Given the description of an element on the screen output the (x, y) to click on. 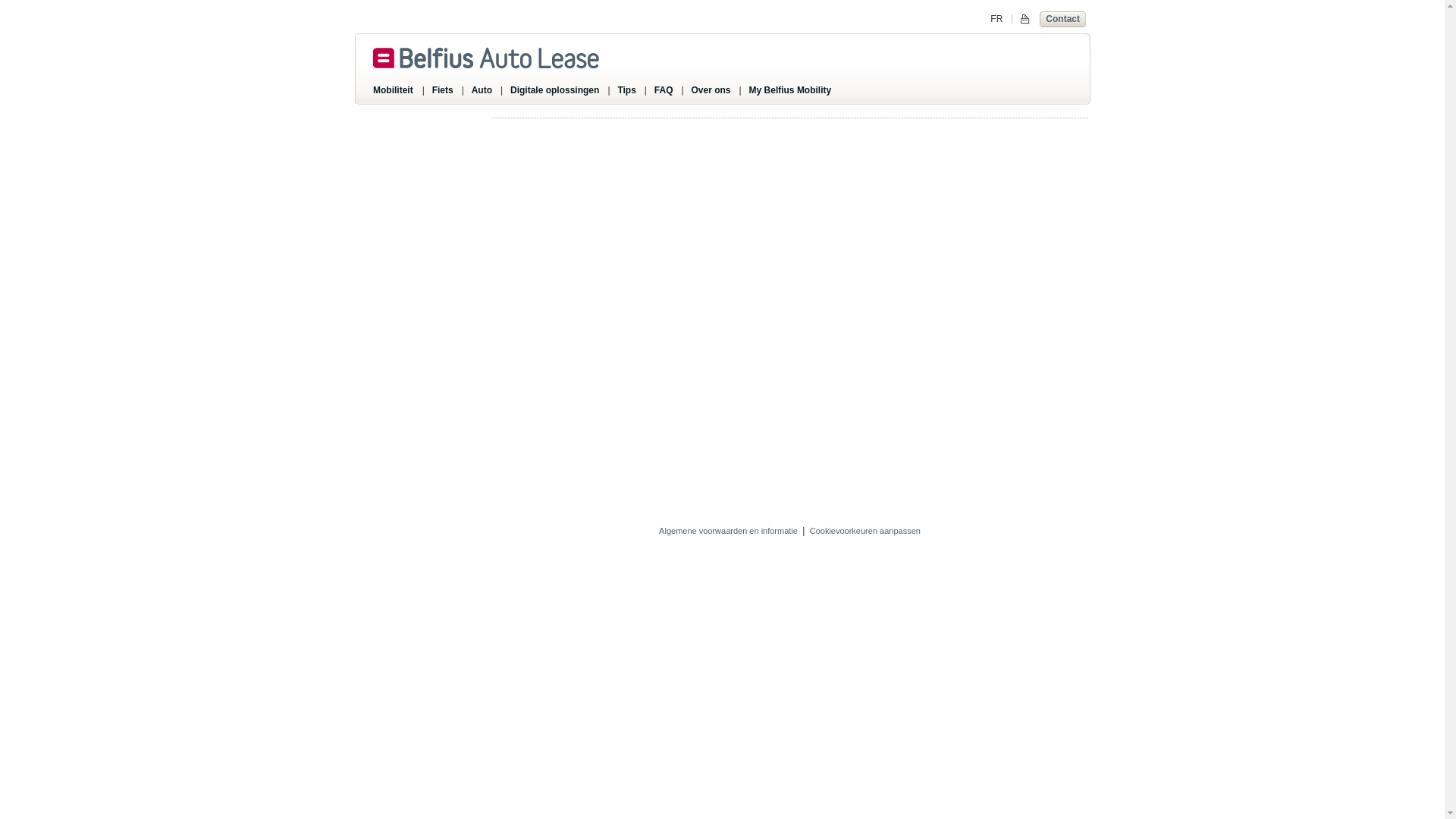
Digitale oplossingen Element type: text (557, 90)
Mobiliteit Element type: text (396, 90)
My Belfius Mobility Element type: text (793, 90)
Over ons Element type: text (714, 90)
Contact Element type: text (1062, 18)
FR Element type: text (996, 18)
Afdrukken Element type: hover (1021, 19)
Cookievoorkeuren aanpassen Element type: text (864, 530)
Tips Element type: text (629, 90)
Naar homepage Element type: hover (483, 57)
FAQ Element type: text (666, 90)
Fiets Element type: text (445, 90)
Auto Element type: text (485, 90)
Algemene voorwaarden en informatie Element type: text (728, 530)
